Given the description of an element on the screen output the (x, y) to click on. 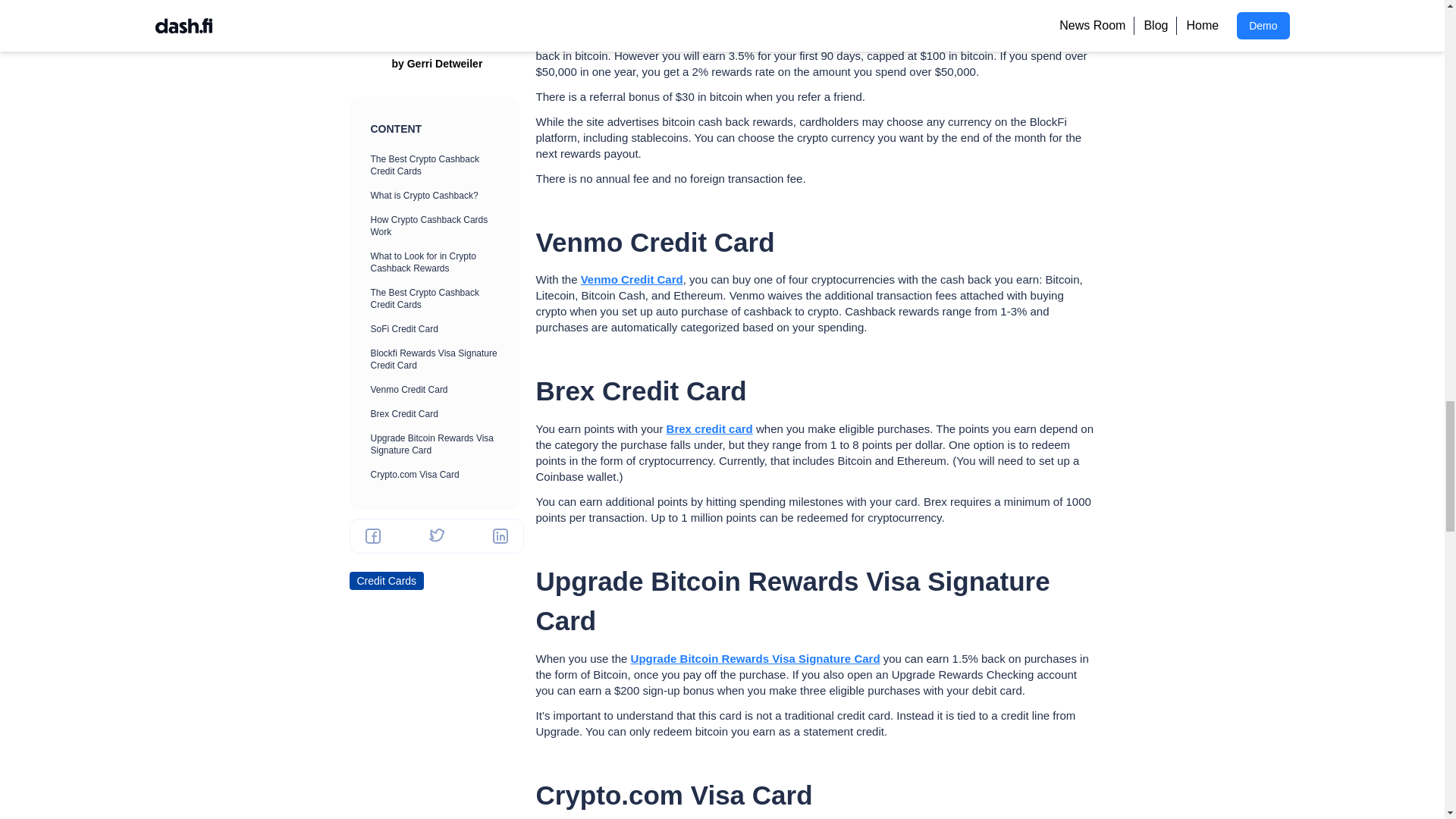
Upgrade Bitcoin Rewards Visa Signature Card (755, 658)
Brex credit card (709, 428)
Venmo Credit Card (631, 278)
